Given the description of an element on the screen output the (x, y) to click on. 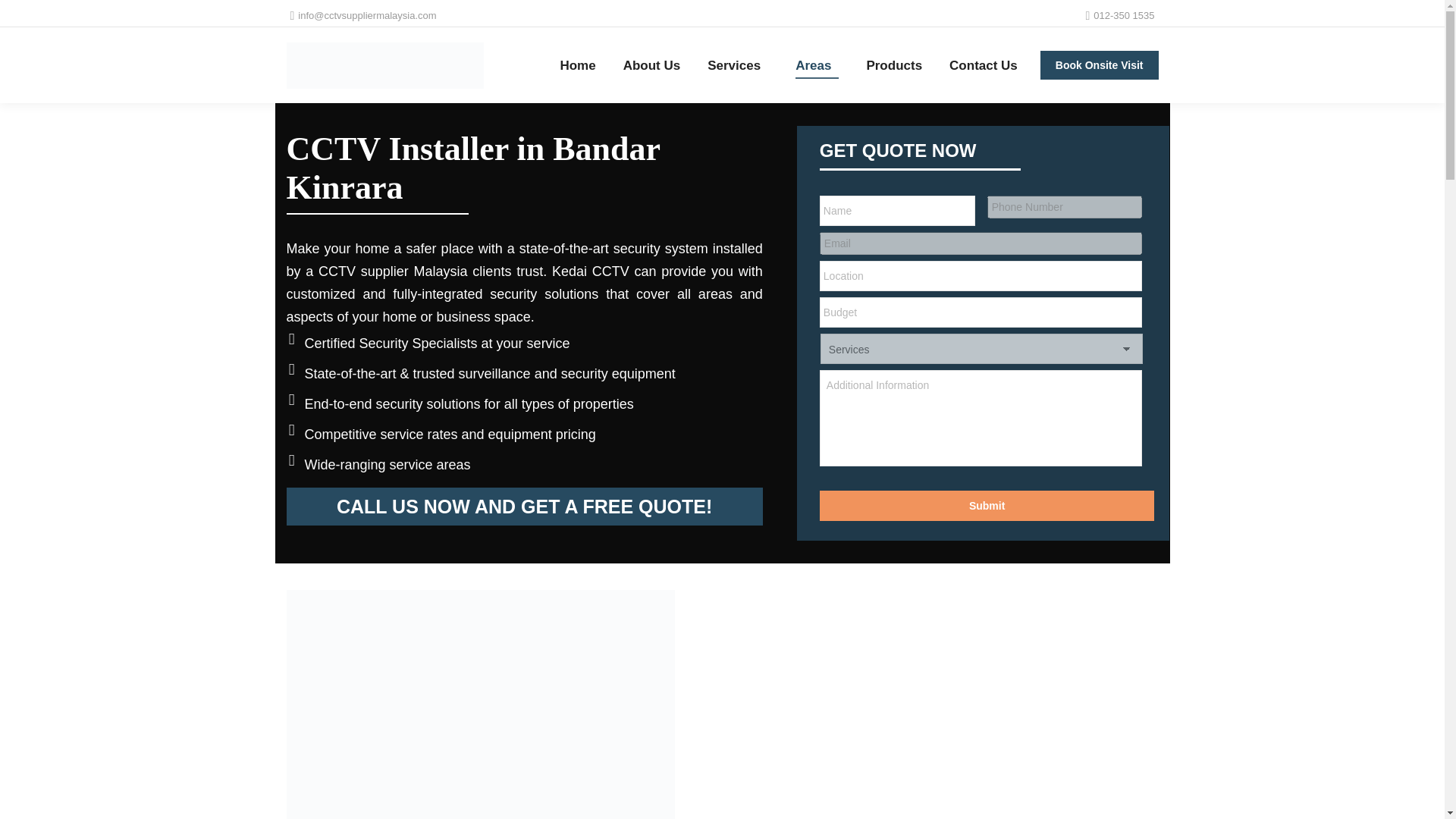
Services (737, 65)
About Us (652, 65)
012-350 1535 (1119, 15)
Submit (986, 505)
